Given the description of an element on the screen output the (x, y) to click on. 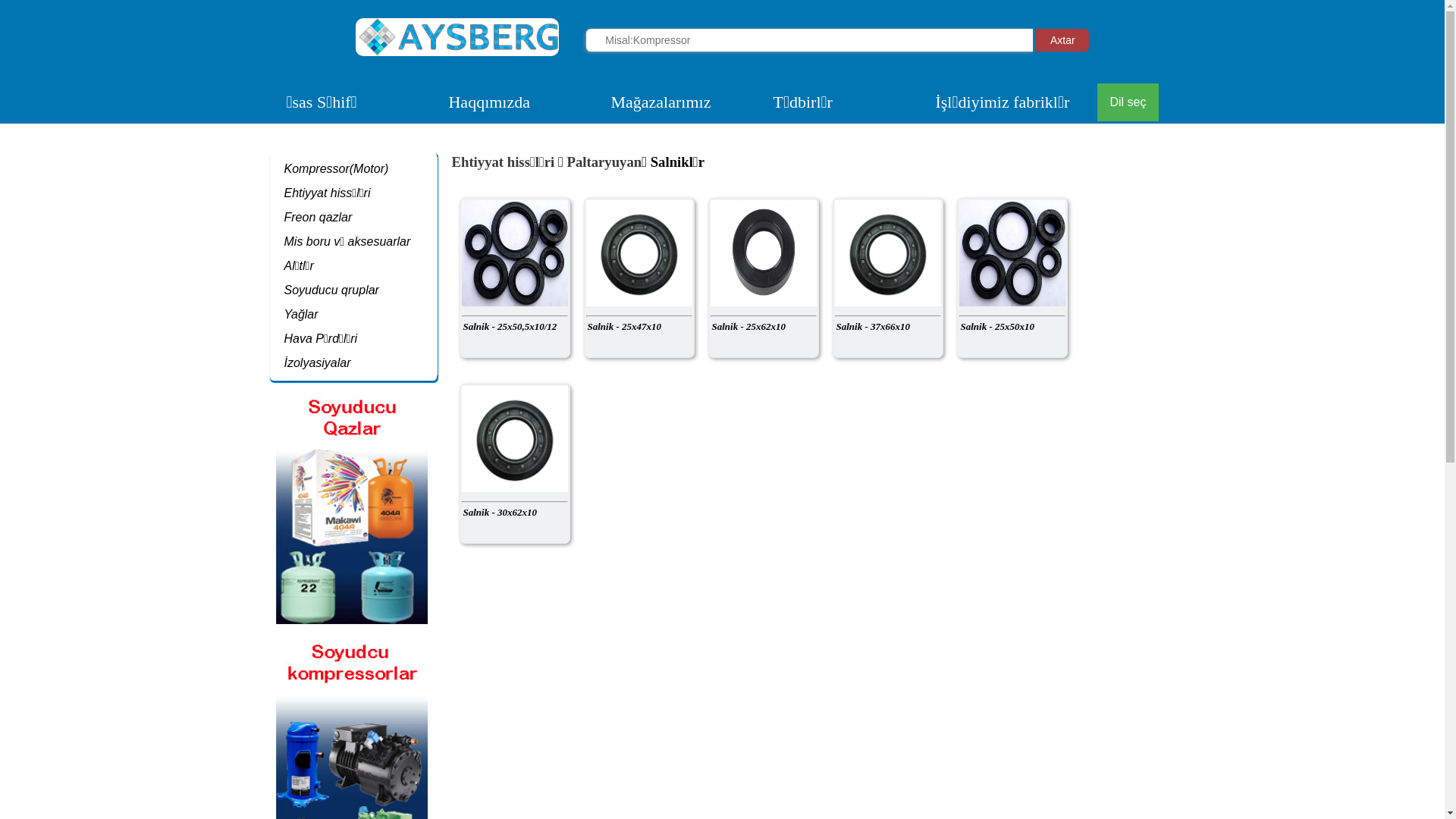
Salnik - 25x50x10 Element type: text (1011, 277)
Salnik - 25x62x10 Element type: text (762, 277)
Kompressor(Motor) Element type: text (336, 168)
Salnik - 25x50,5x10/12 Element type: text (513, 277)
Paltaryuyan Element type: text (603, 161)
Salnik - 30x62x10 Element type: text (513, 463)
Soyuducu qruplar Element type: text (331, 289)
Axtar Element type: text (1061, 39)
Freon qazlar Element type: text (318, 217)
Salnik - 37x66x10 Element type: text (886, 277)
Salnik - 25x47x10 Element type: text (638, 277)
